Given the description of an element on the screen output the (x, y) to click on. 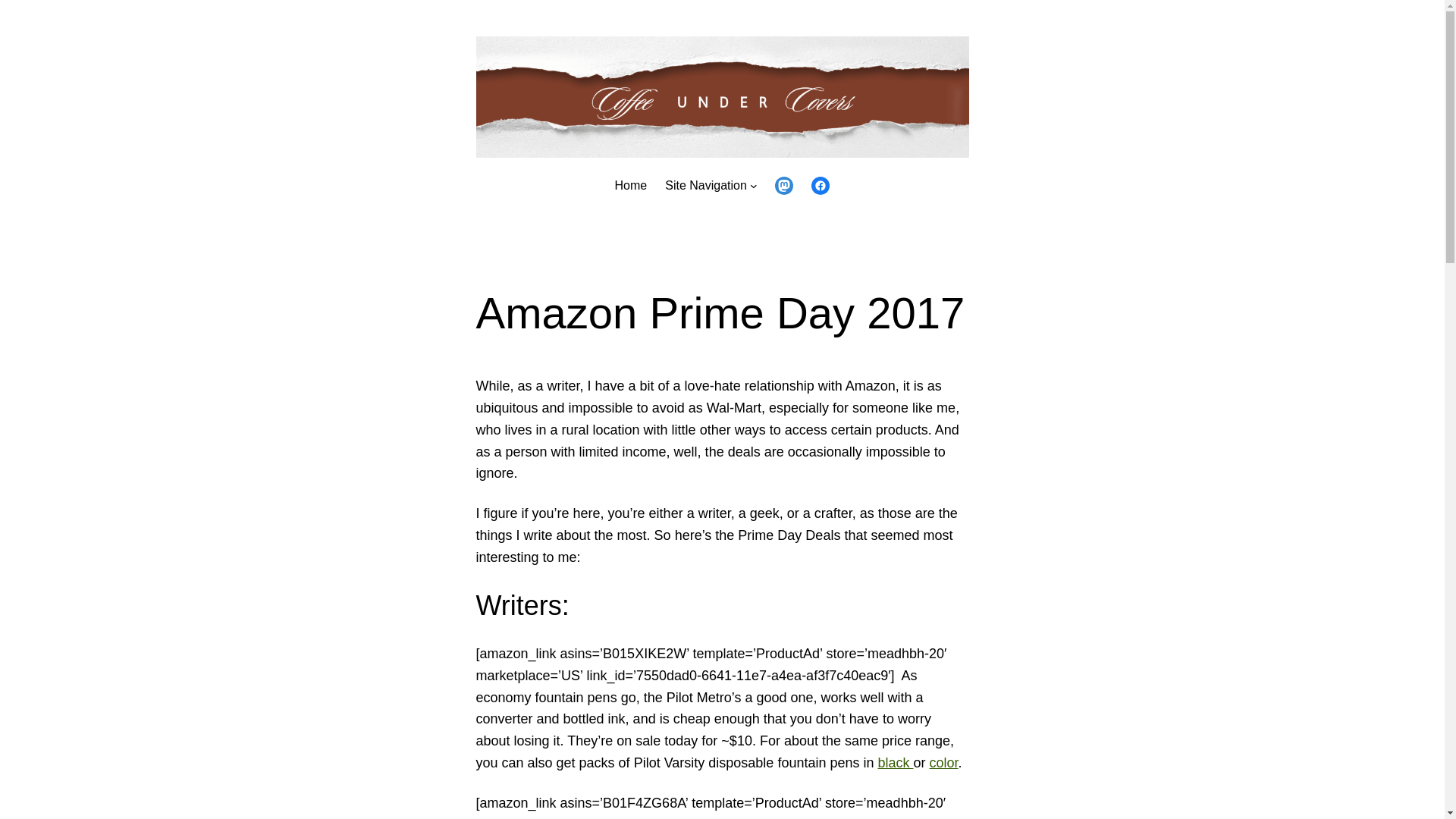
Home (630, 185)
Facebook (819, 185)
color (944, 762)
Site Navigation (705, 185)
Mastodon (783, 185)
black (894, 762)
